Given the description of an element on the screen output the (x, y) to click on. 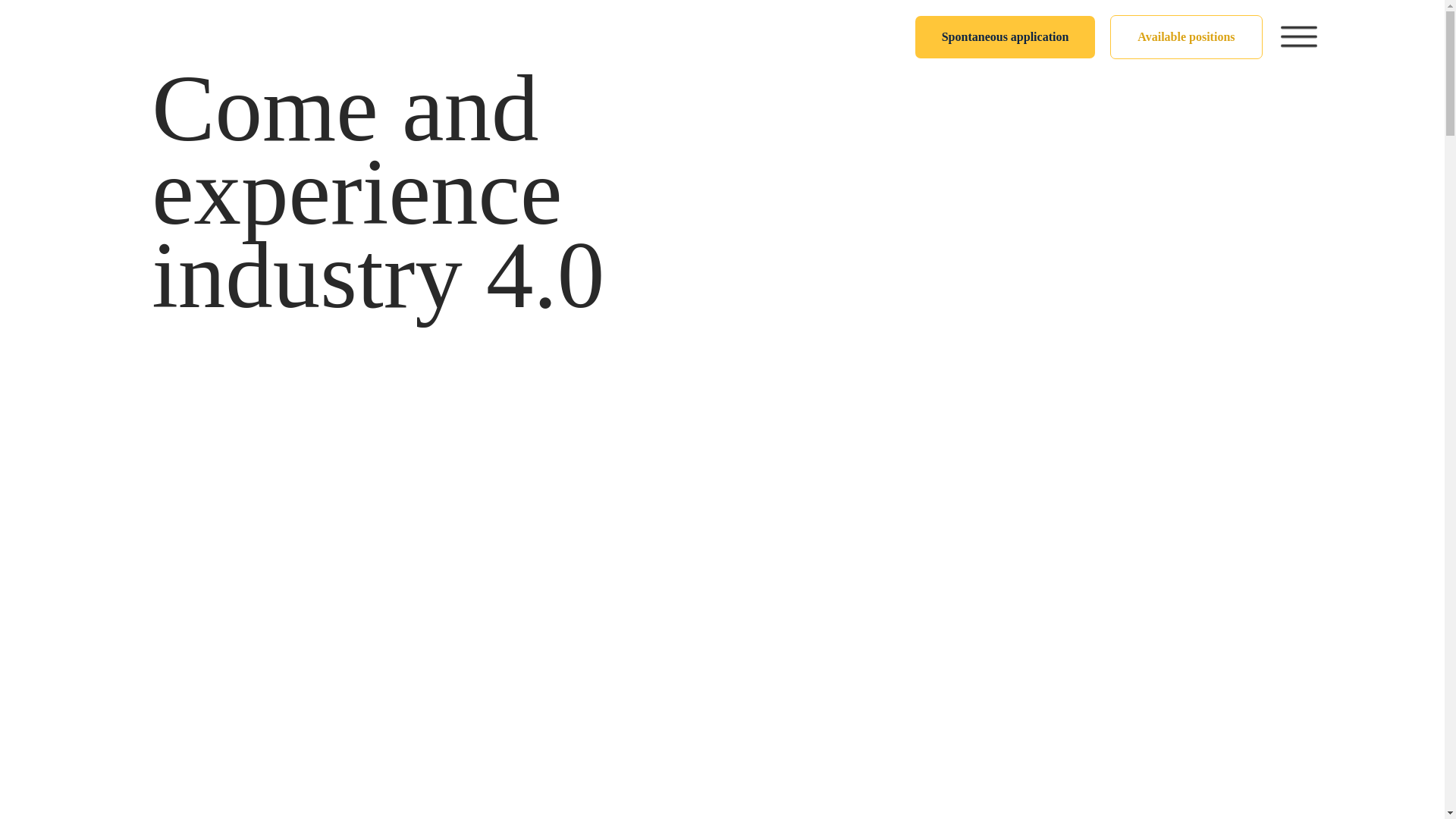
Spontaneous application Element type: text (1005, 36)
Available positions Element type: text (1185, 37)
